Given the description of an element on the screen output the (x, y) to click on. 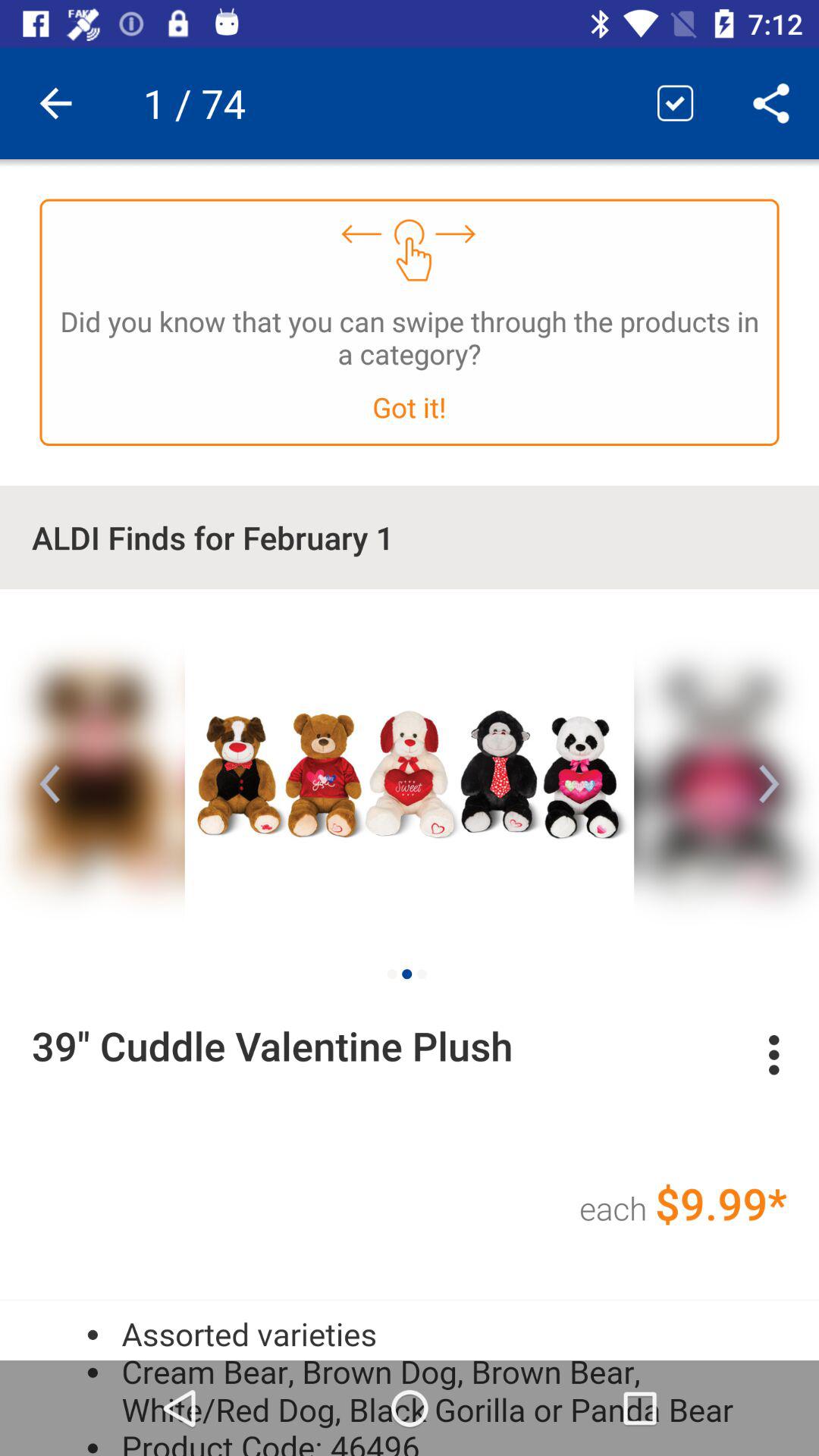
native carousel image (409, 771)
